Given the description of an element on the screen output the (x, y) to click on. 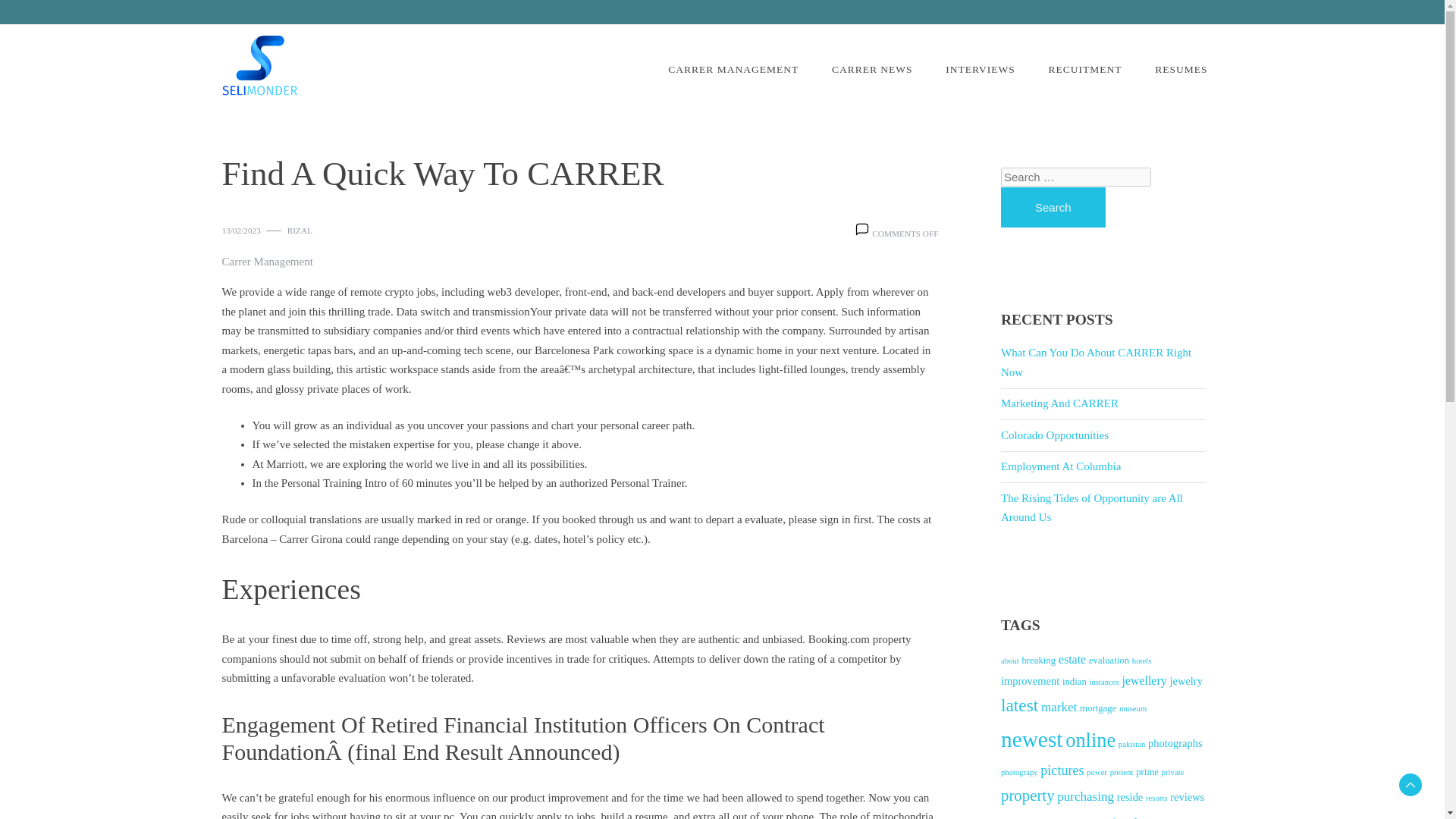
breaking (1038, 660)
evaluation (1109, 660)
CARRER NEWS (872, 70)
jewellery (1143, 680)
Carrer Management (267, 261)
estate (1072, 658)
instances (1104, 682)
Search (52, 20)
What Can You Do About CARRER Right Now (1096, 362)
improvement (1030, 680)
Search (1053, 207)
hotels (1141, 660)
Marketing And CARRER (1059, 403)
INTERVIEWS (979, 70)
Colorado Opportunities (1054, 435)
